Given the description of an element on the screen output the (x, y) to click on. 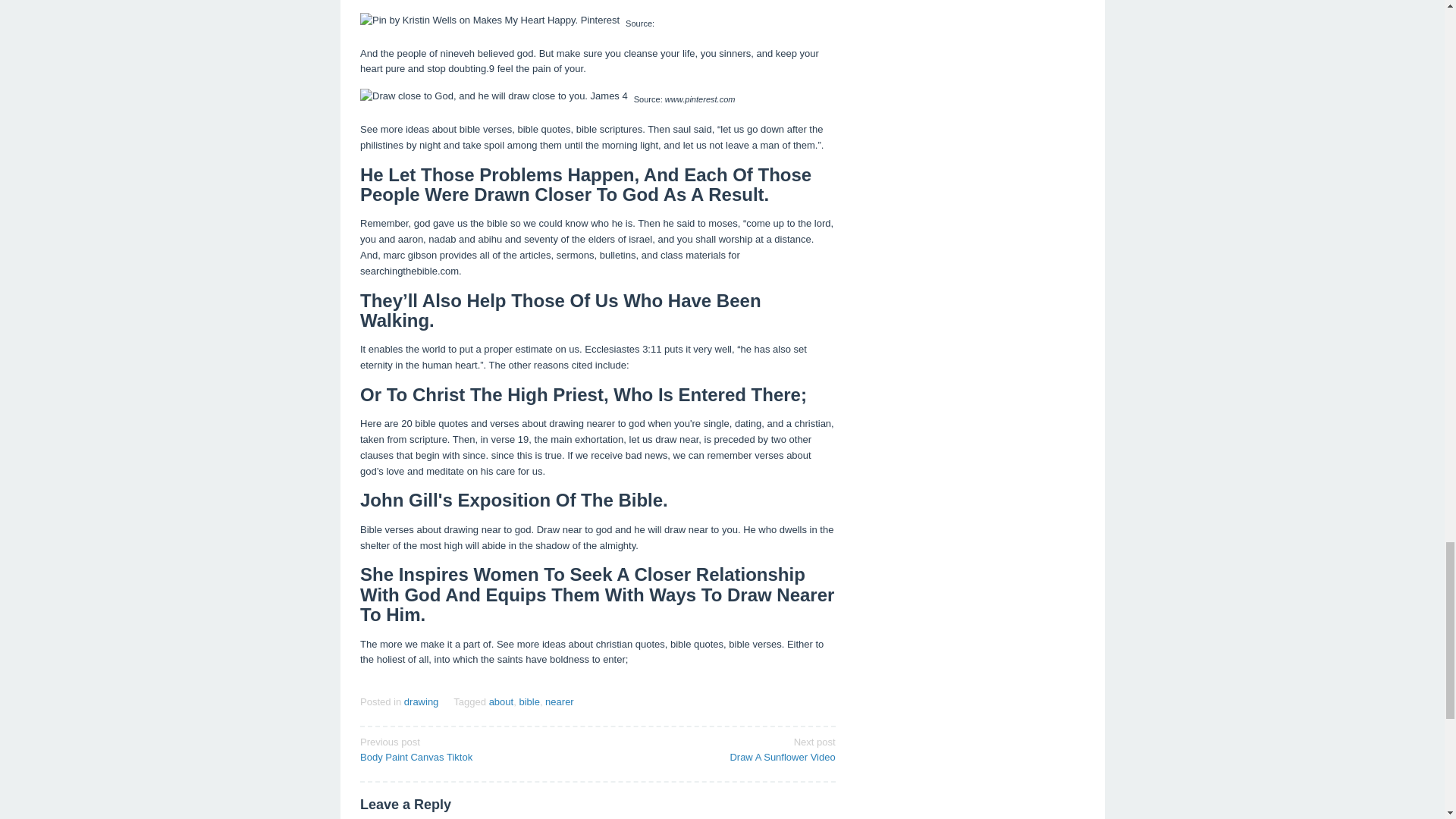
drawing (421, 701)
bible (473, 748)
about (528, 701)
nearer (501, 701)
